Given the description of an element on the screen output the (x, y) to click on. 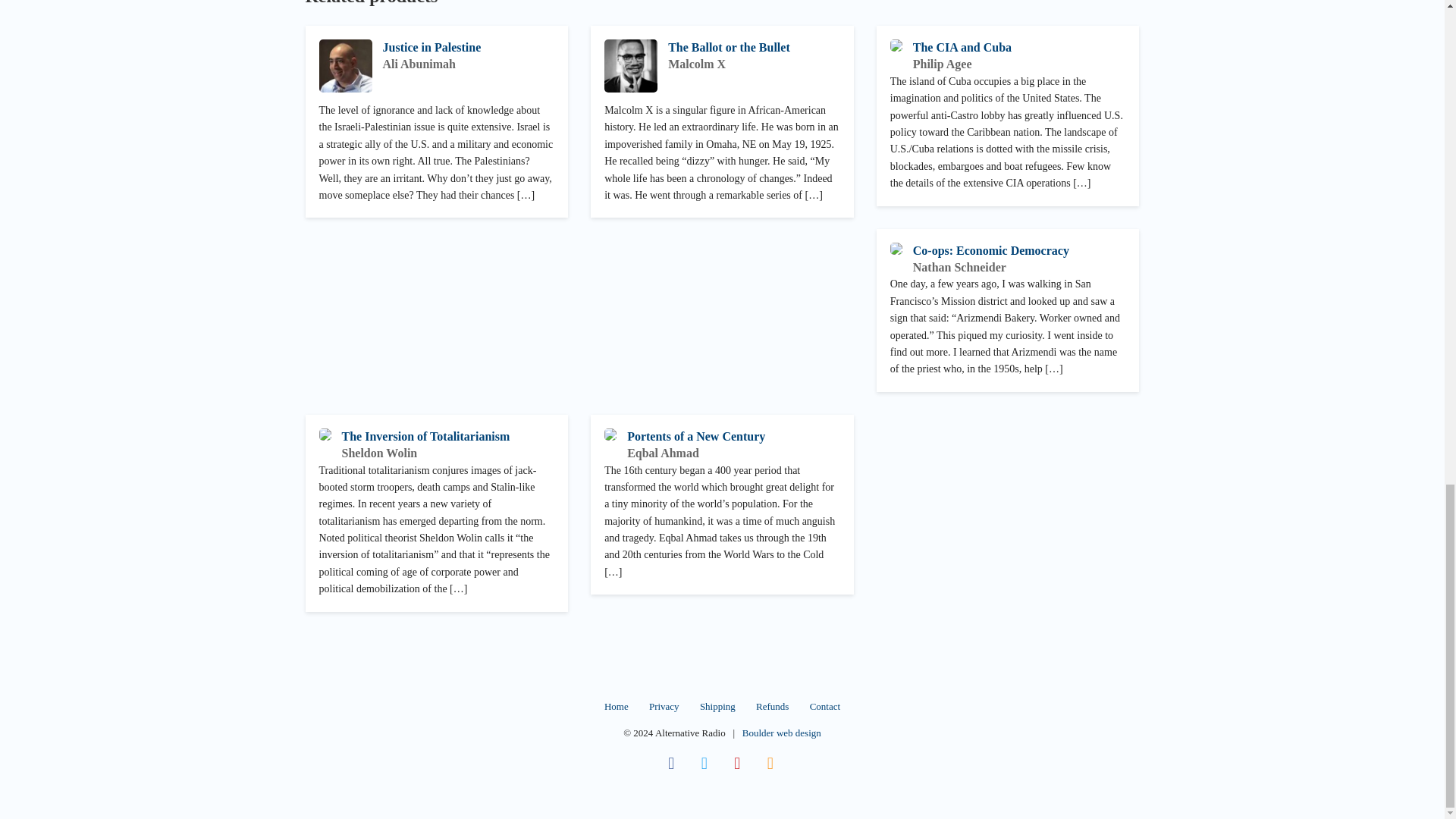
Twitter (704, 763)
Podcast (769, 763)
YouTube (737, 763)
Facebook (670, 763)
